Given the description of an element on the screen output the (x, y) to click on. 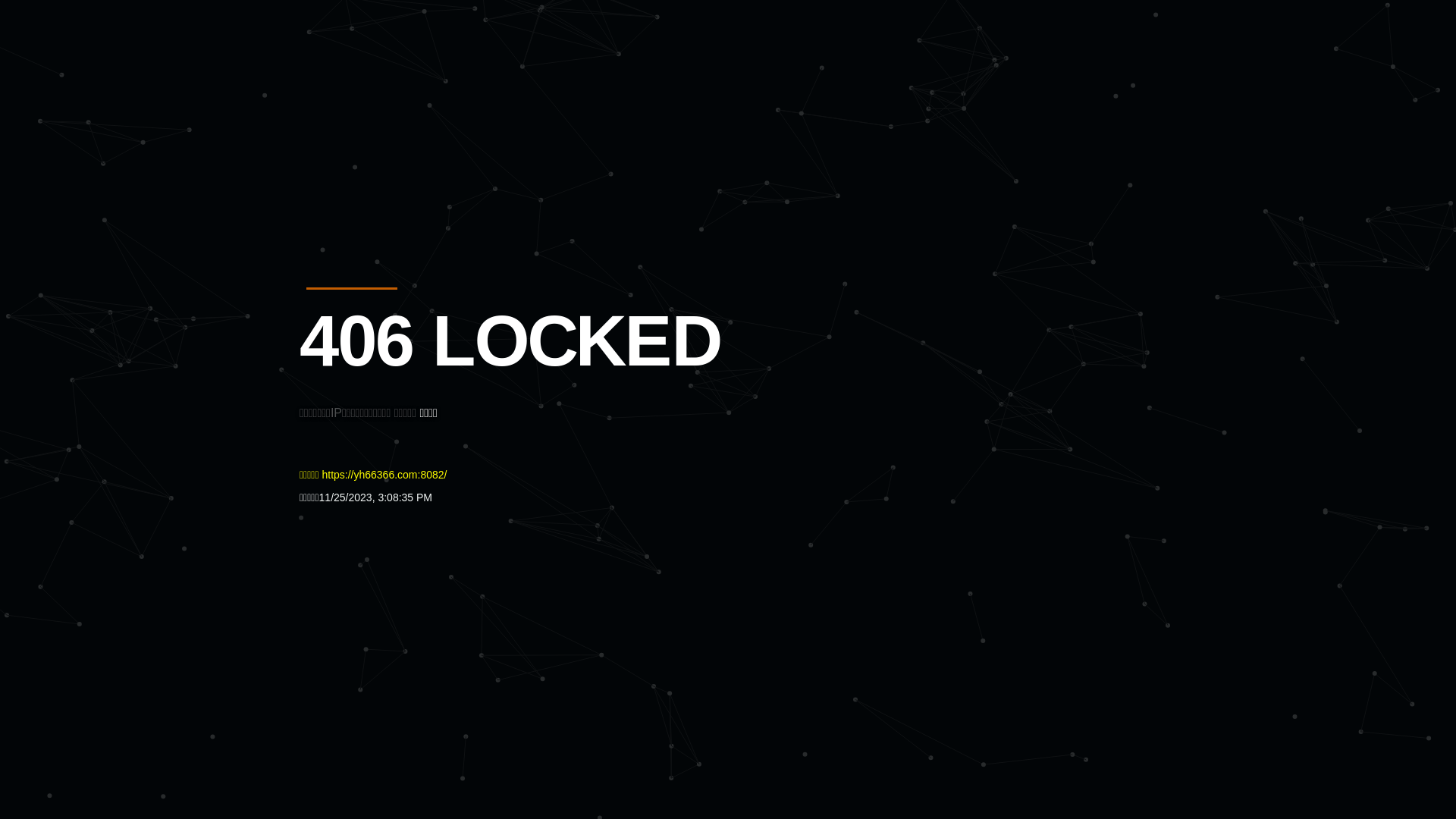
Quatro Element type: text (410, 86)
